Given the description of an element on the screen output the (x, y) to click on. 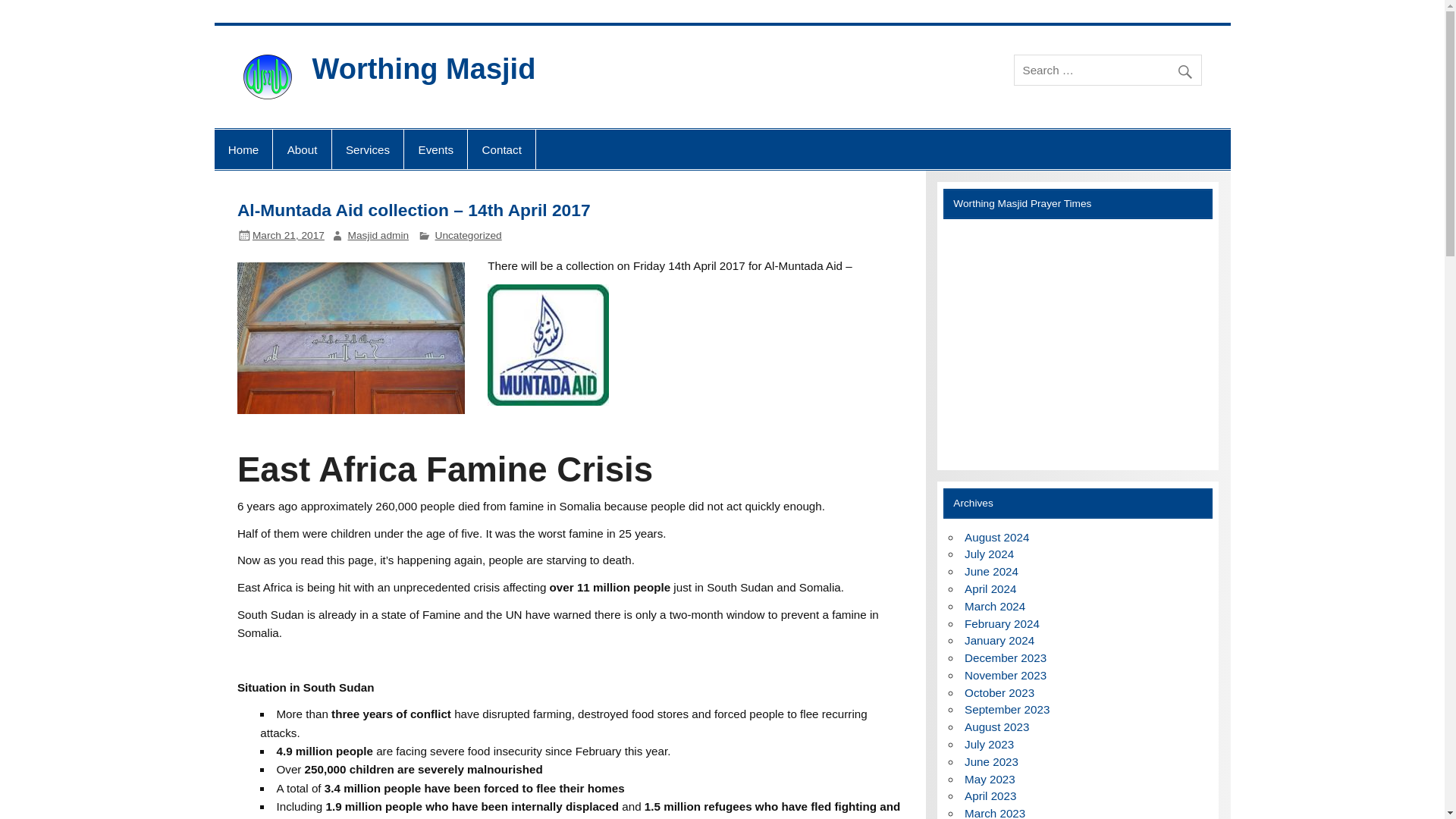
March 21, 2017 (287, 235)
April 2024 (989, 588)
March 2024 (994, 605)
July 2024 (988, 553)
February 2024 (1001, 623)
View all posts by Masjid admin (378, 235)
Events (435, 148)
June 2024 (990, 571)
Home (243, 148)
August 2024 (996, 536)
